Given the description of an element on the screen output the (x, y) to click on. 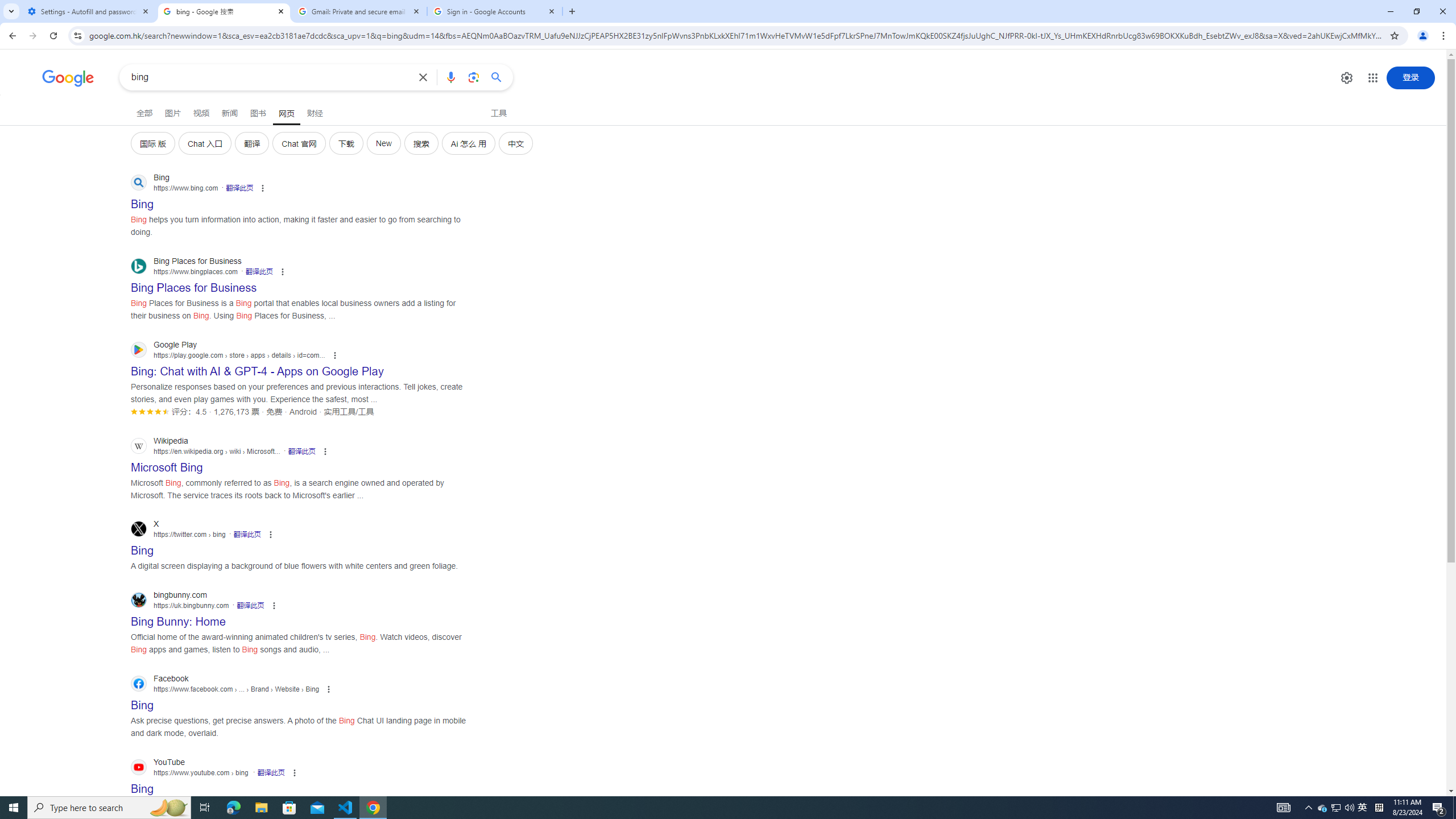
 Bing Bunny: Home bingbunny.com https://uk.bingbunny.com (178, 617)
Sign in - Google Accounts (494, 11)
